Given the description of an element on the screen output the (x, y) to click on. 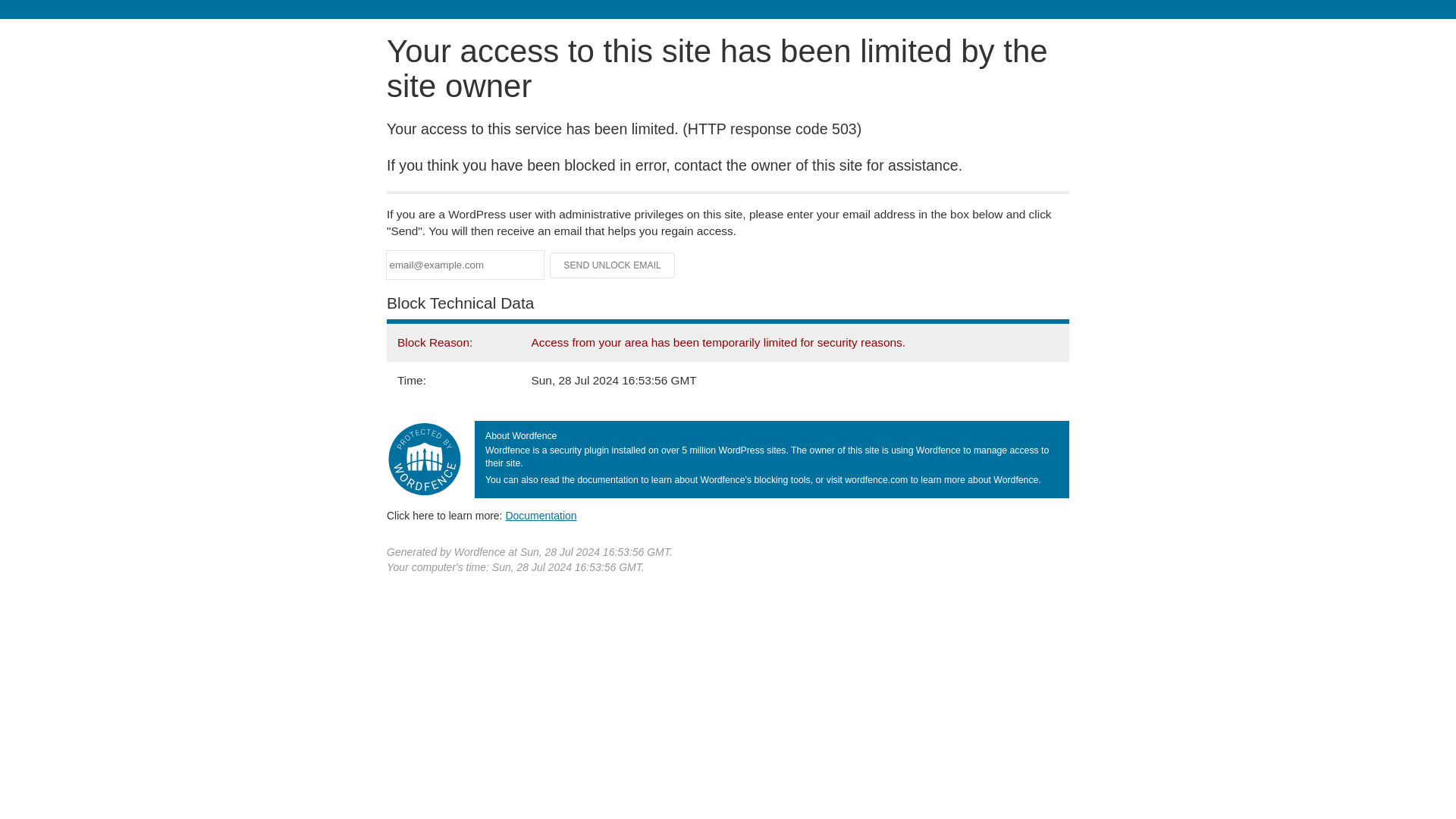
Documentation (540, 515)
Send Unlock Email (612, 265)
Send Unlock Email (612, 265)
